Given the description of an element on the screen output the (x, y) to click on. 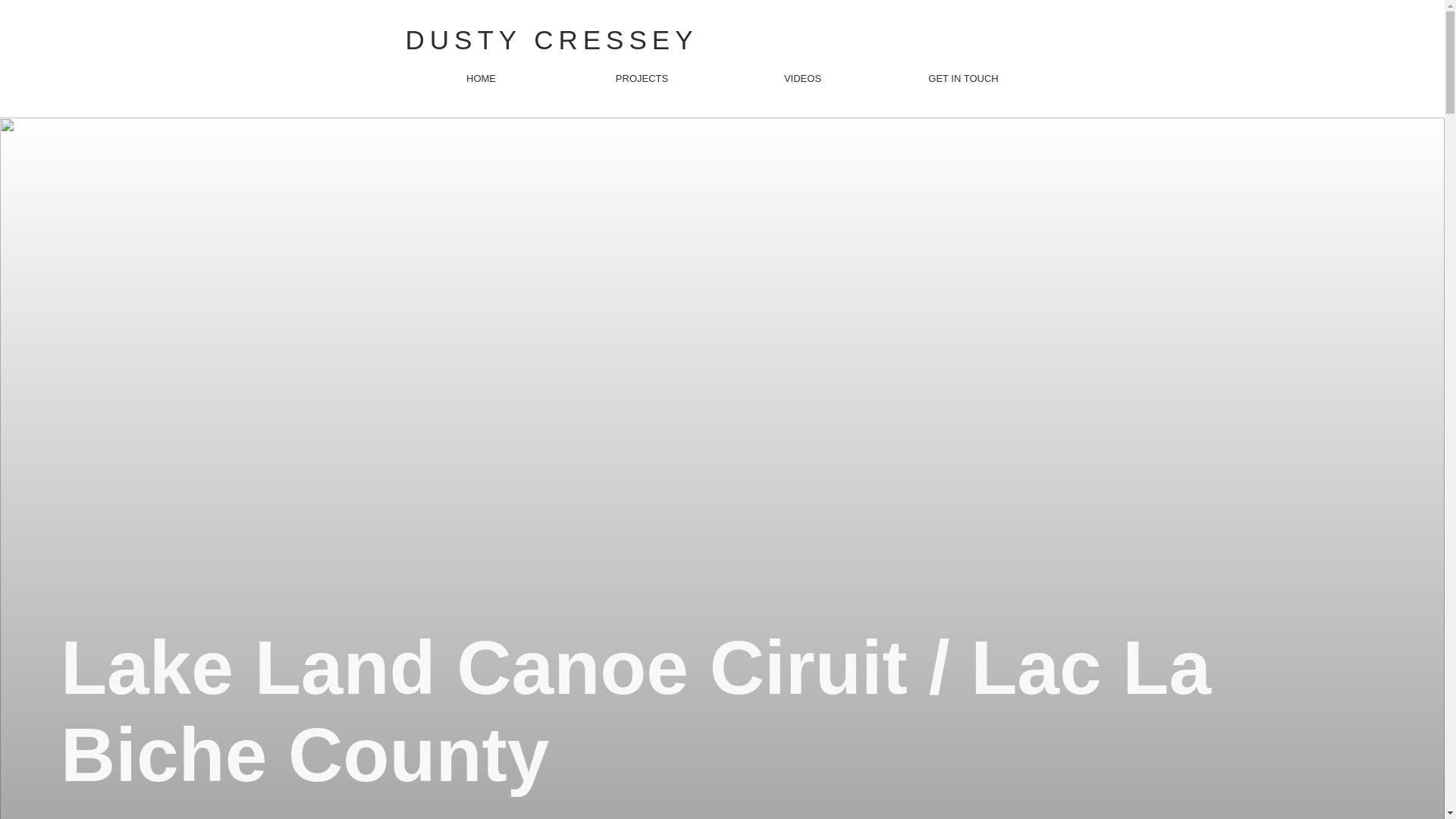
VIDEOS (802, 78)
HOME (480, 78)
GET IN TOUCH (963, 78)
PROJECTS (642, 78)
